Given the description of an element on the screen output the (x, y) to click on. 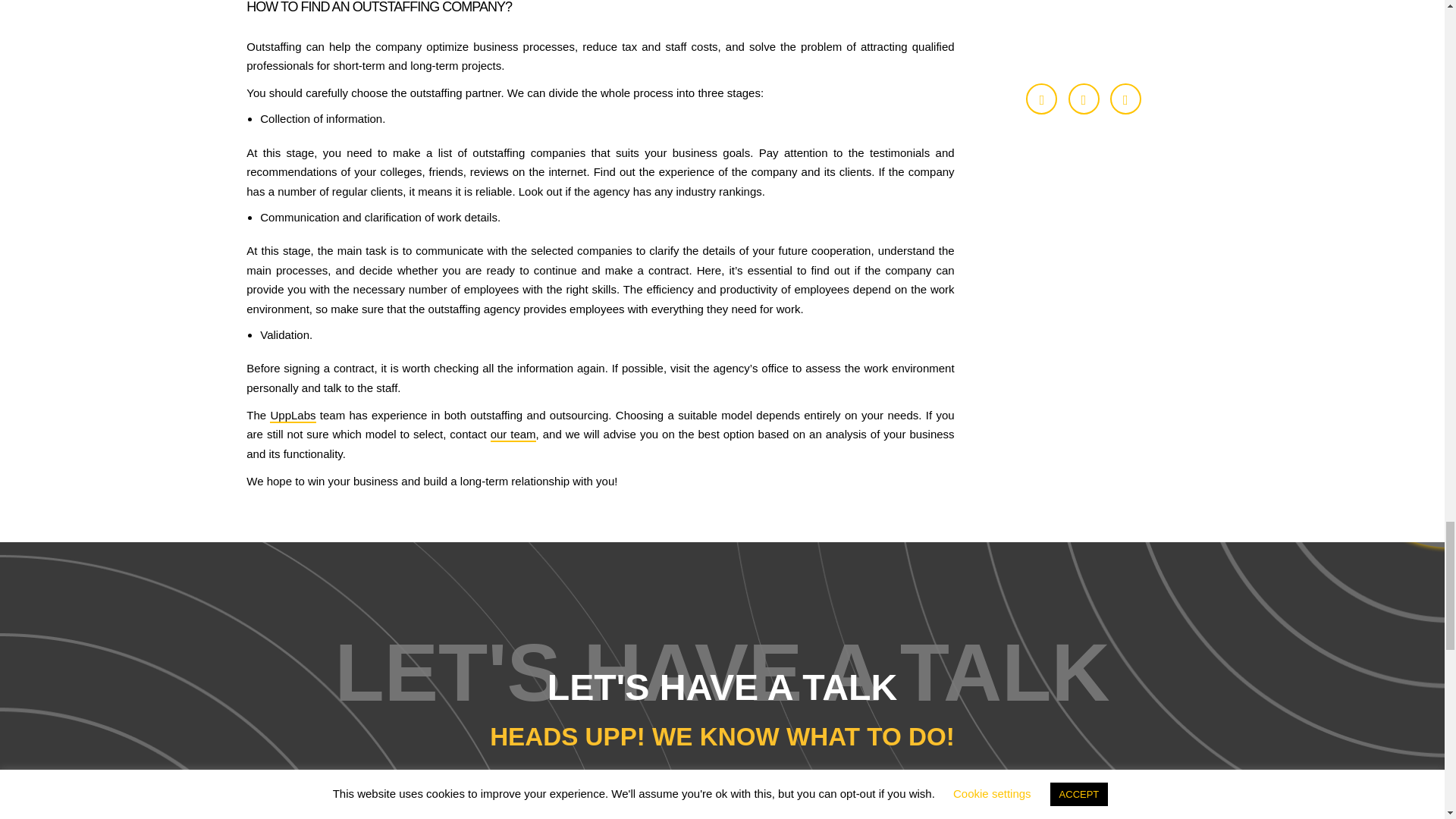
our team (512, 434)
UppLabs (292, 415)
